Given the description of an element on the screen output the (x, y) to click on. 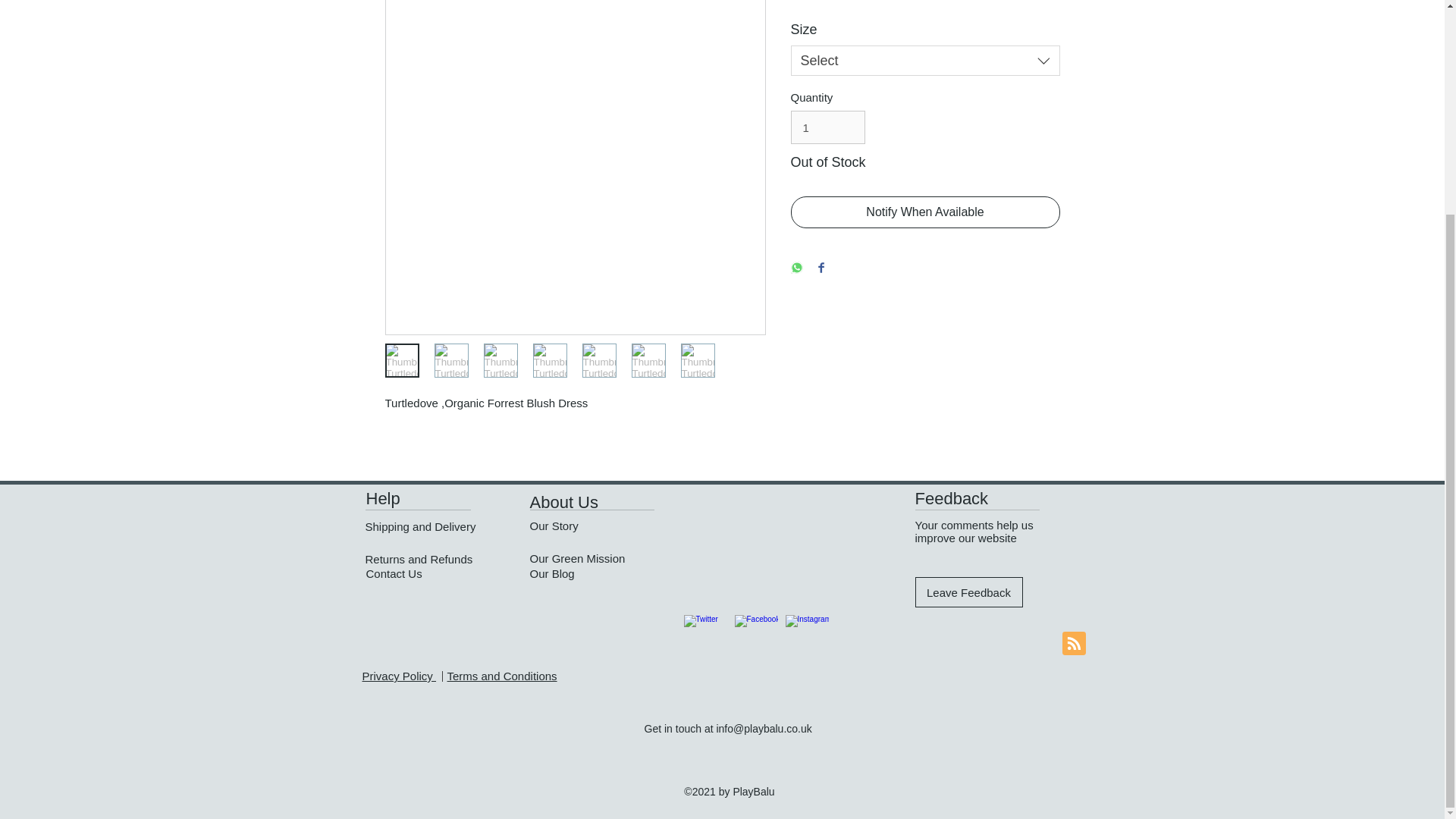
1 (827, 127)
Shipping and Delivery (420, 526)
Select (924, 60)
Notify When Available (924, 212)
